Given the description of an element on the screen output the (x, y) to click on. 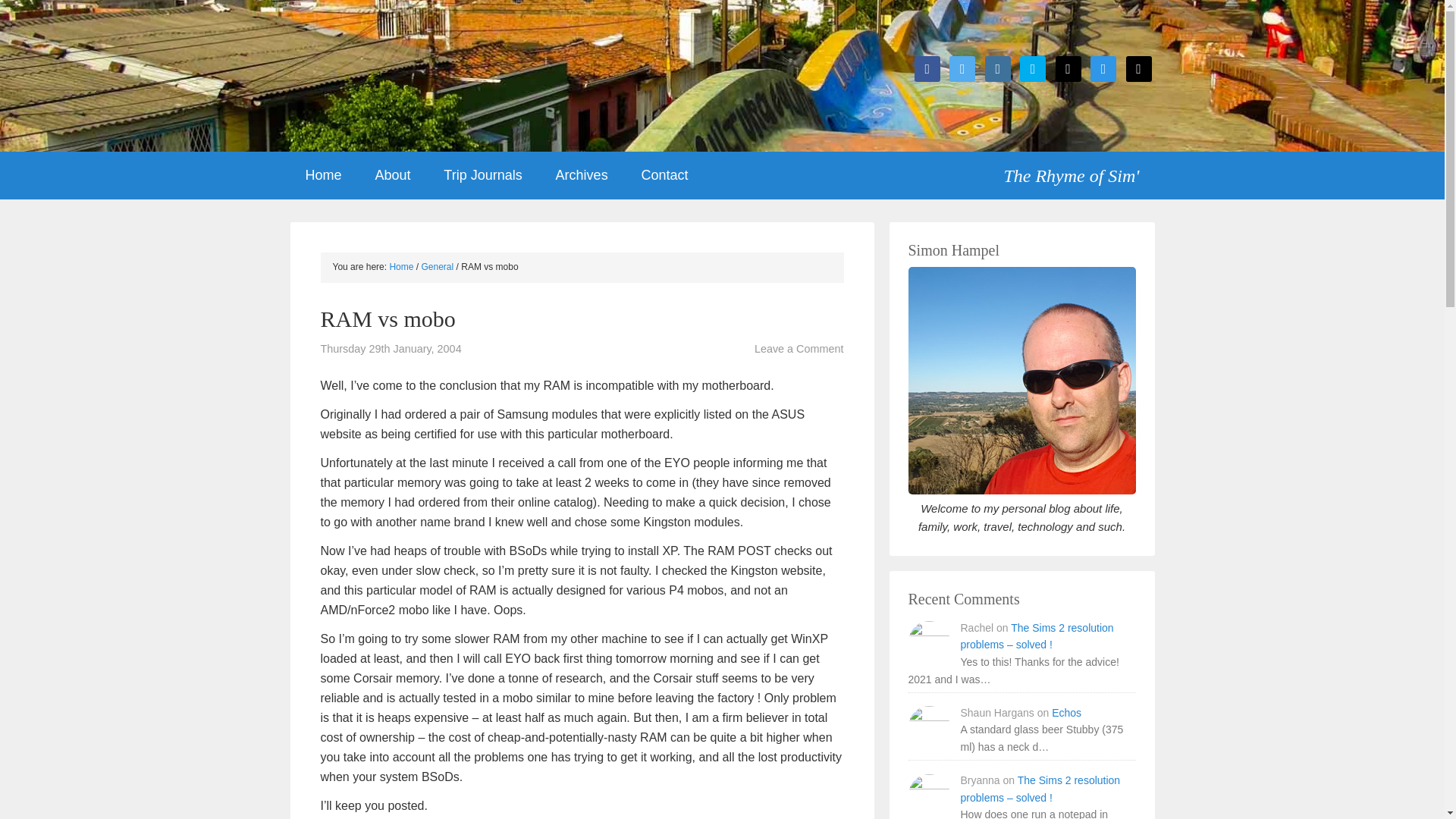
General (438, 266)
Archives (581, 175)
Instagram (997, 67)
stackoverflow (1103, 67)
github (1068, 67)
Home (322, 175)
Echos (1066, 712)
The Rhyme of Sim' (1078, 170)
twitter (962, 67)
Friend me on Facebook (927, 67)
